Given the description of an element on the screen output the (x, y) to click on. 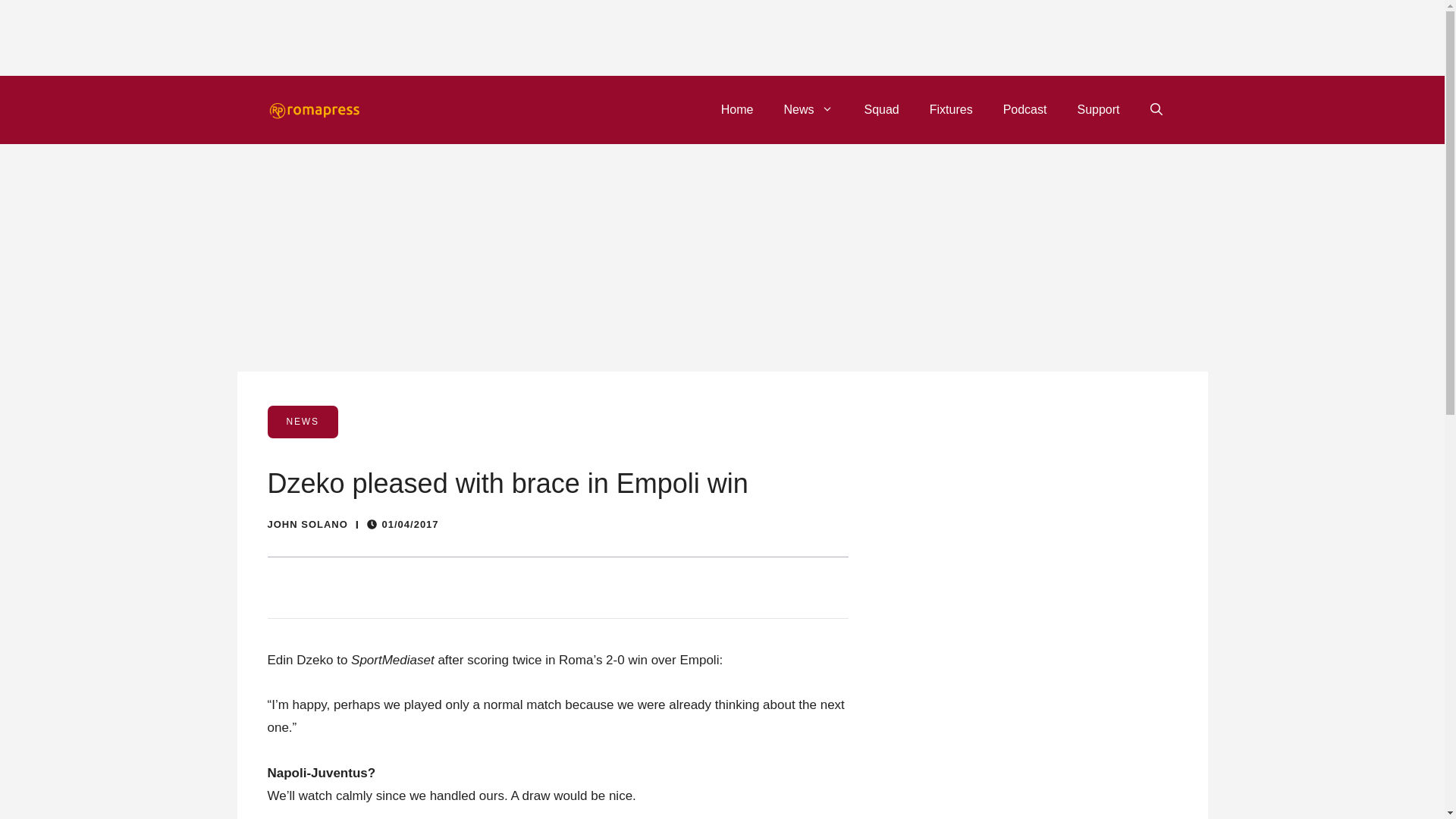
Podcast (1025, 109)
Fixtures (951, 109)
Squad (881, 109)
News (808, 109)
Home (737, 109)
Support (1097, 109)
